Given the description of an element on the screen output the (x, y) to click on. 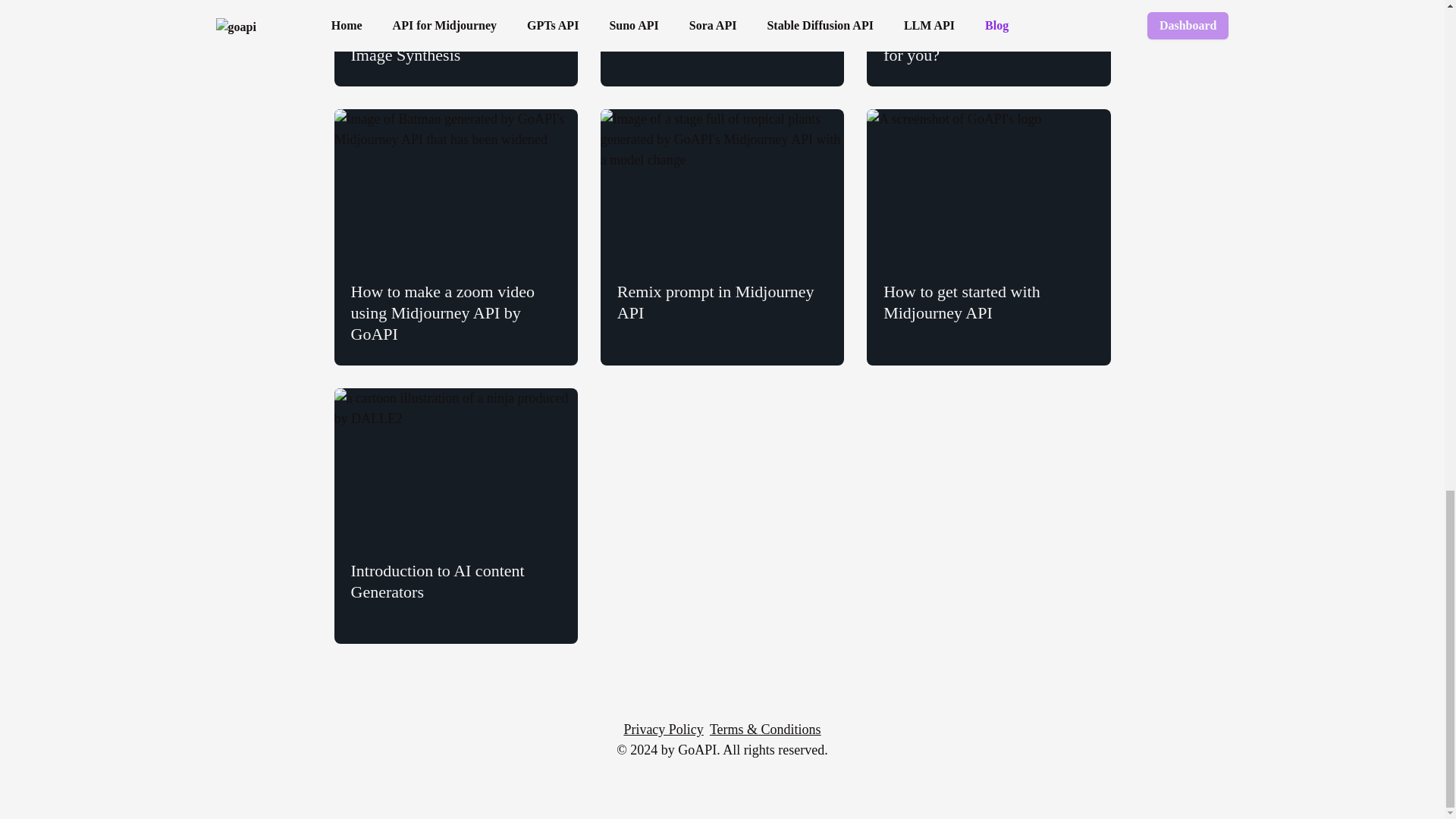
Introduction to AI content Generators (454, 515)
How to get started with Midjourney API (987, 236)
How to make a zoom video using Midjourney API by GoAPI (454, 236)
Privacy Policy (663, 729)
Remix prompt in Midjourney API (721, 236)
What are LoRA models? (721, 43)
